Given the description of an element on the screen output the (x, y) to click on. 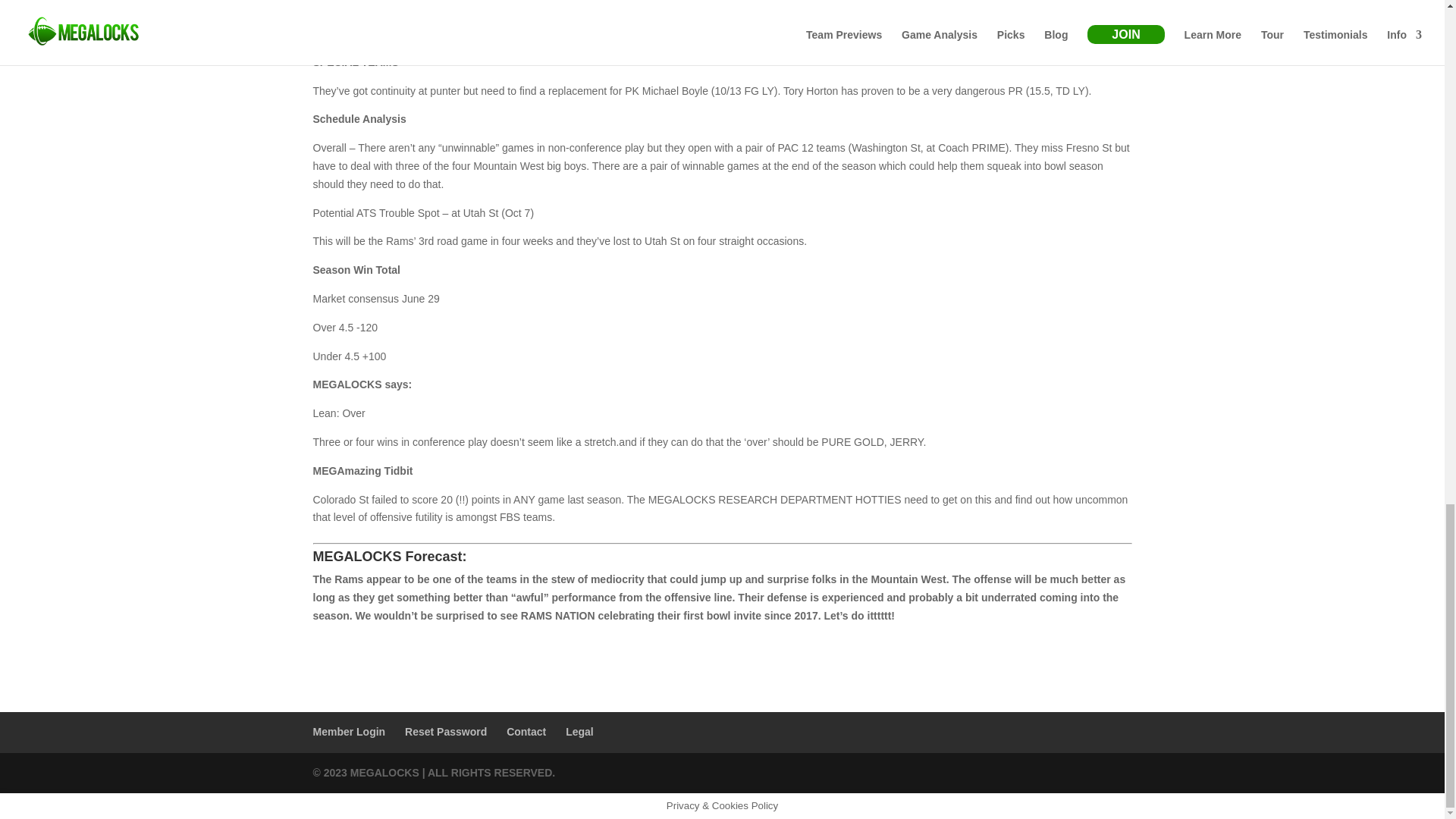
Reset Password (445, 731)
Legal (580, 731)
Member Login (349, 731)
Contact (526, 731)
